Given the description of an element on the screen output the (x, y) to click on. 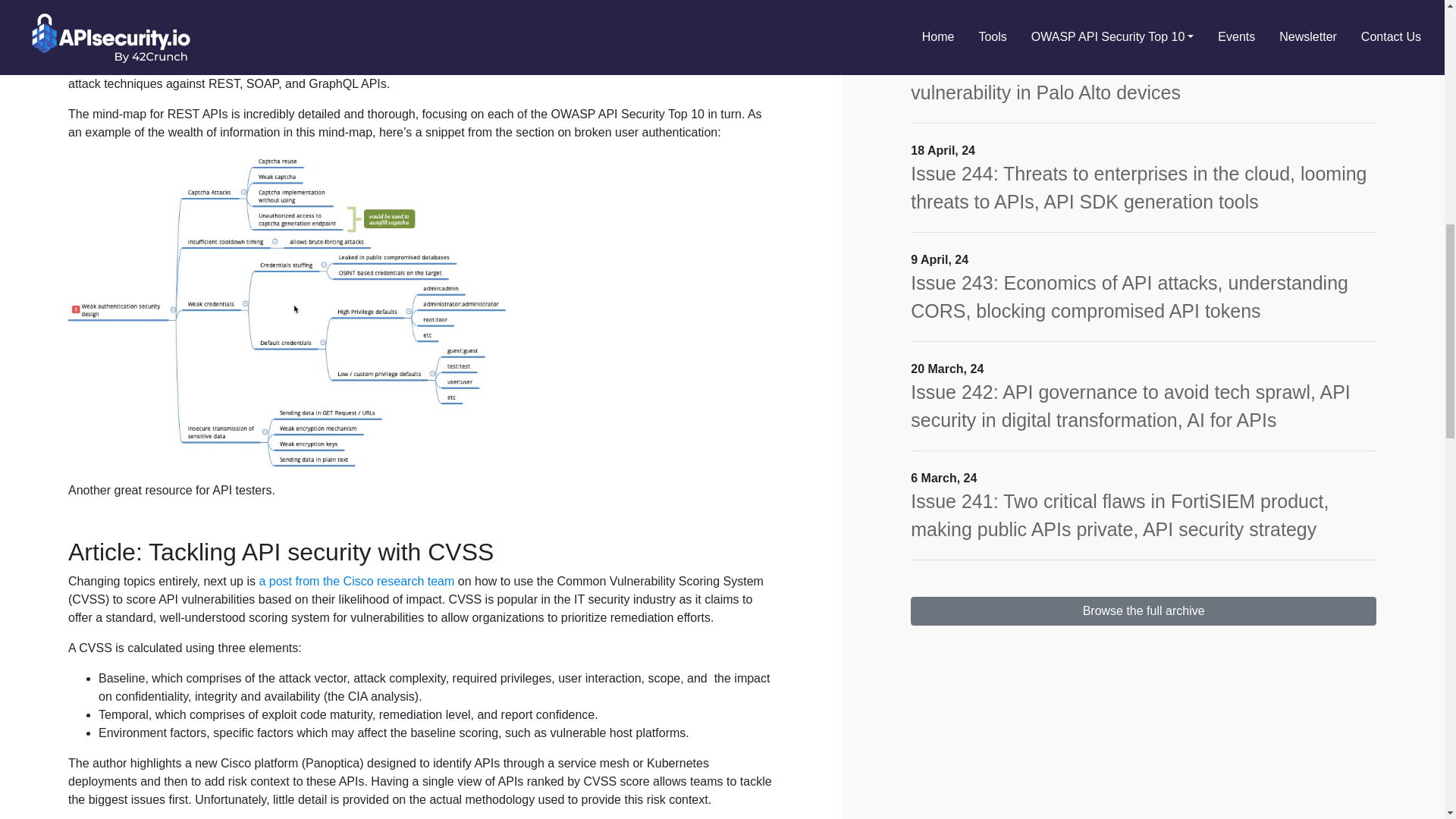
a post from the Cisco research team (356, 581)
who brings us his API Security Empire (421, 56)
